Given the description of an element on the screen output the (x, y) to click on. 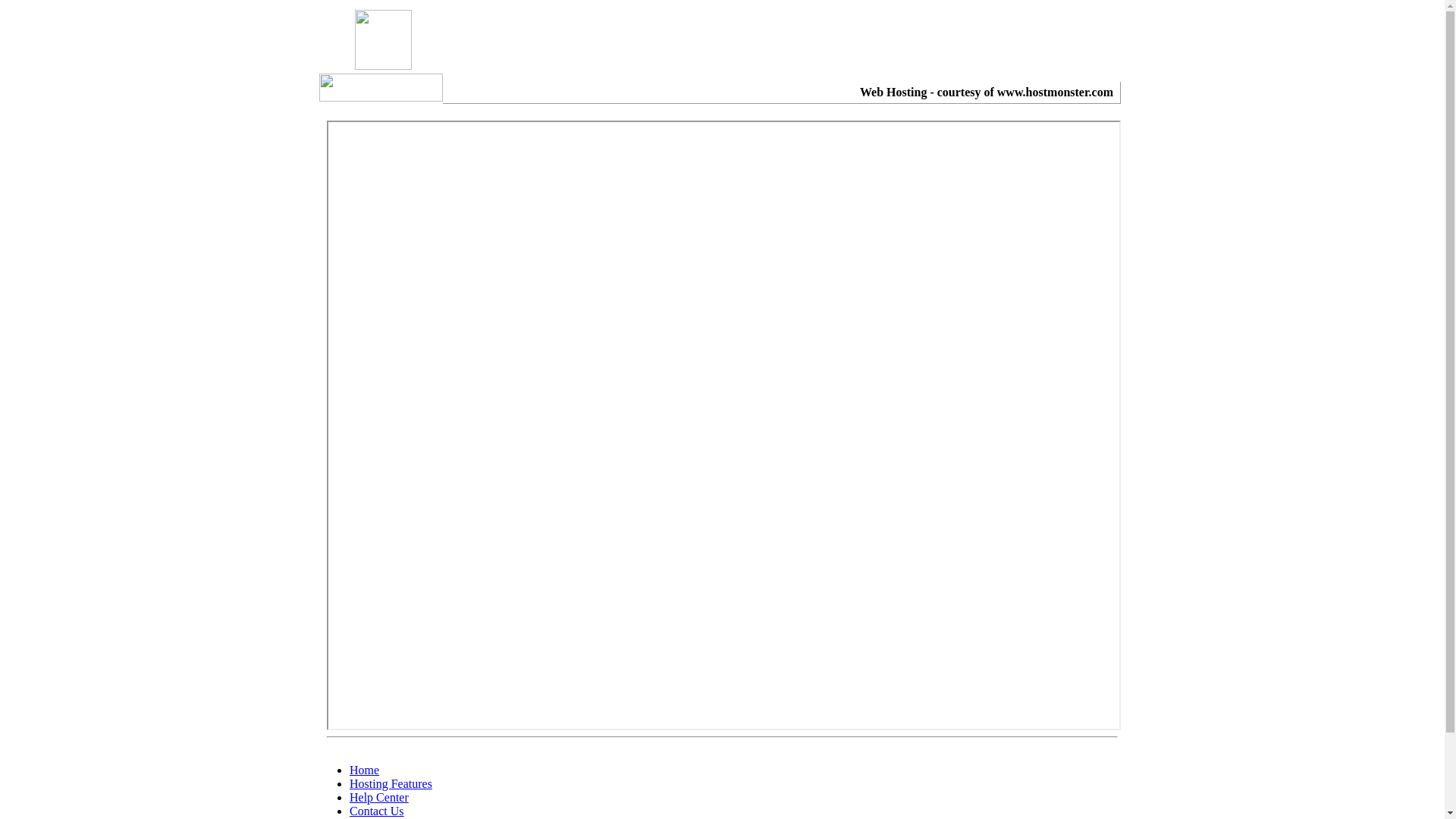
Help Center Element type: text (378, 796)
Hosting Features Element type: text (390, 783)
Contact Us Element type: text (376, 810)
Home Element type: text (364, 769)
Web Hosting - courtesy of www.hostmonster.com Element type: text (986, 91)
